Given the description of an element on the screen output the (x, y) to click on. 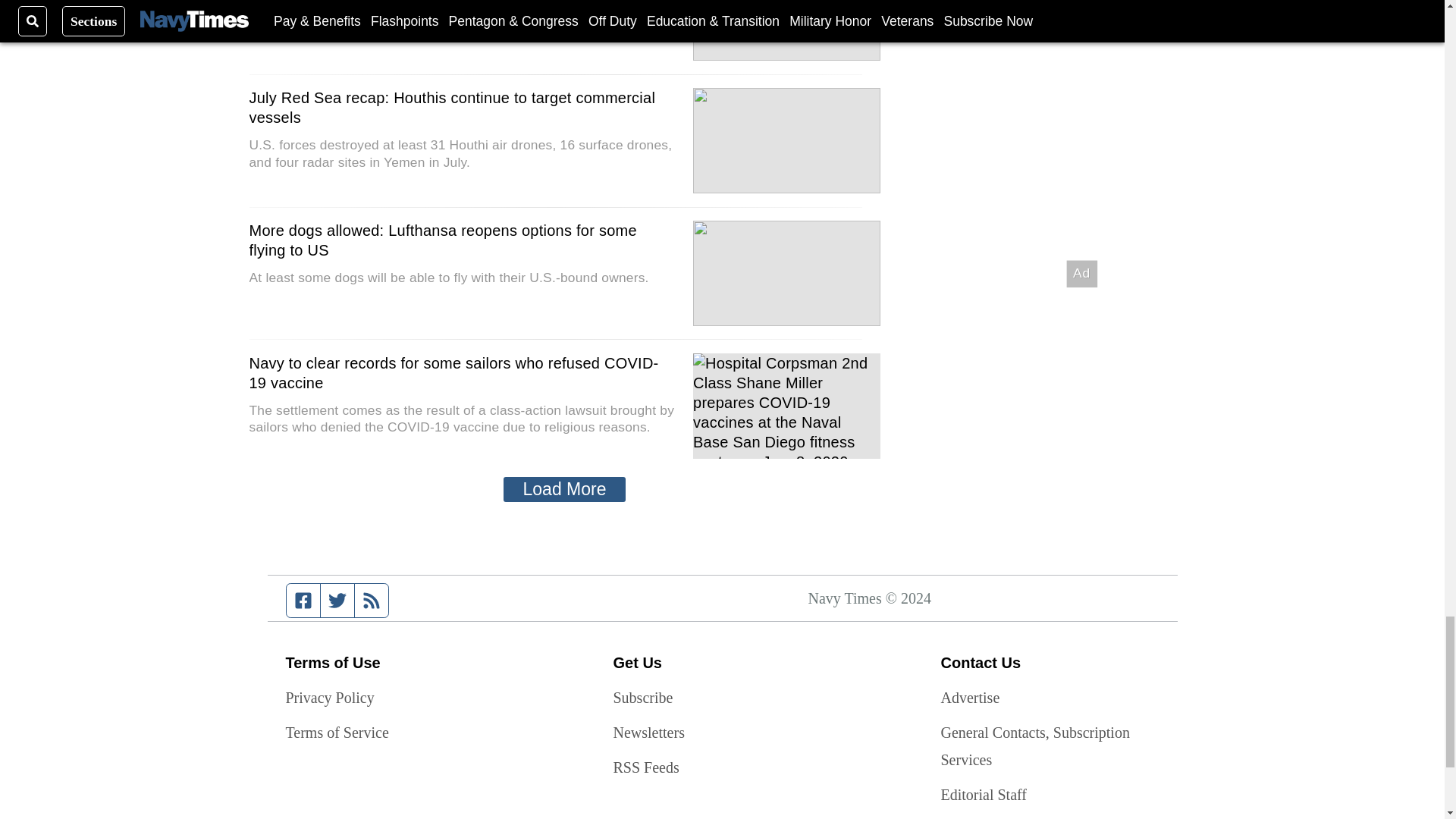
Facebook page (303, 600)
RSS feed (371, 600)
Twitter feed (336, 600)
